Given the description of an element on the screen output the (x, y) to click on. 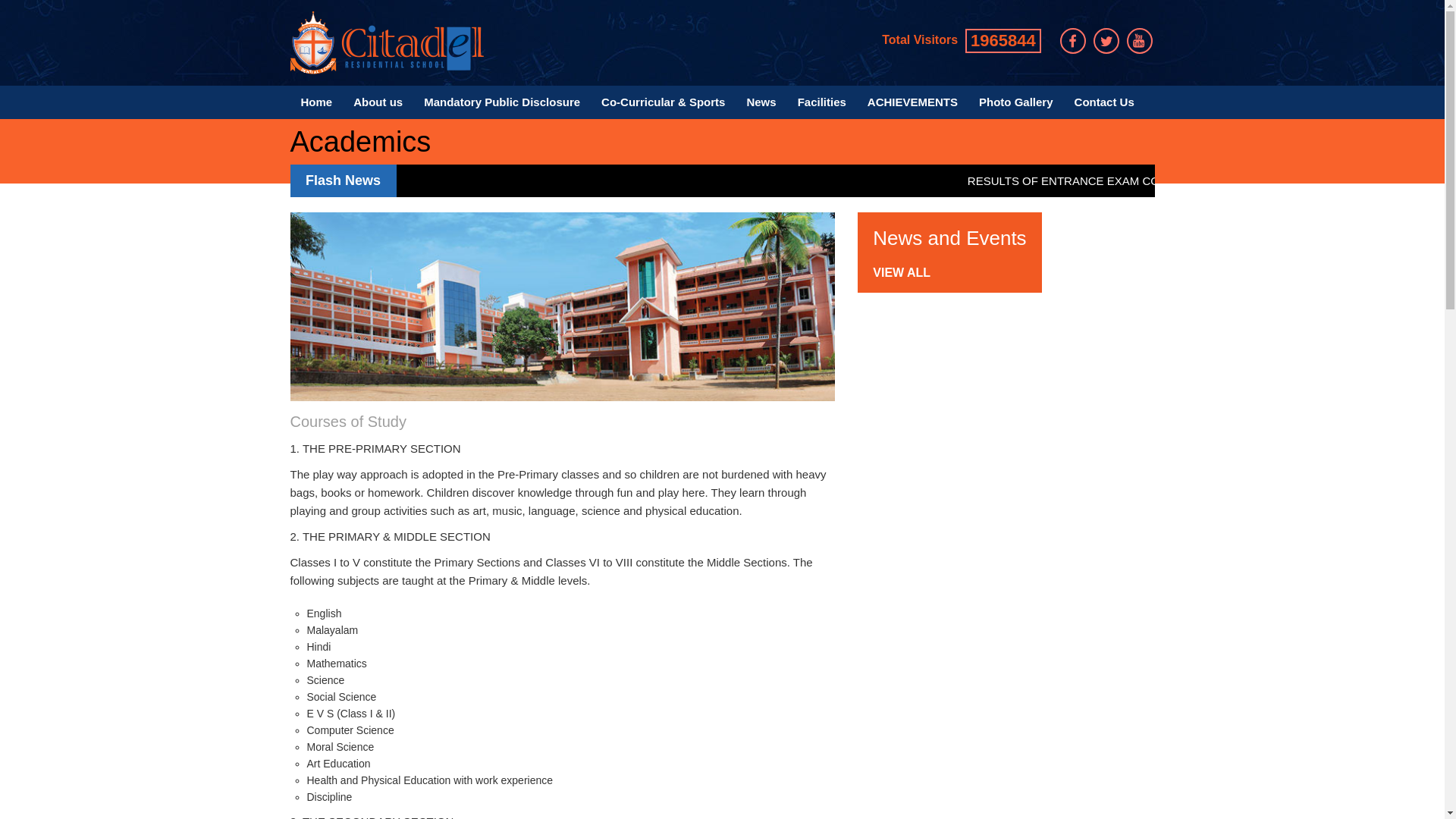
Mandatory Public Disclosure (502, 101)
Home (315, 101)
About us (377, 101)
About us (377, 101)
Home (315, 101)
Mandatory Public Disclosure (502, 101)
